Given the description of an element on the screen output the (x, y) to click on. 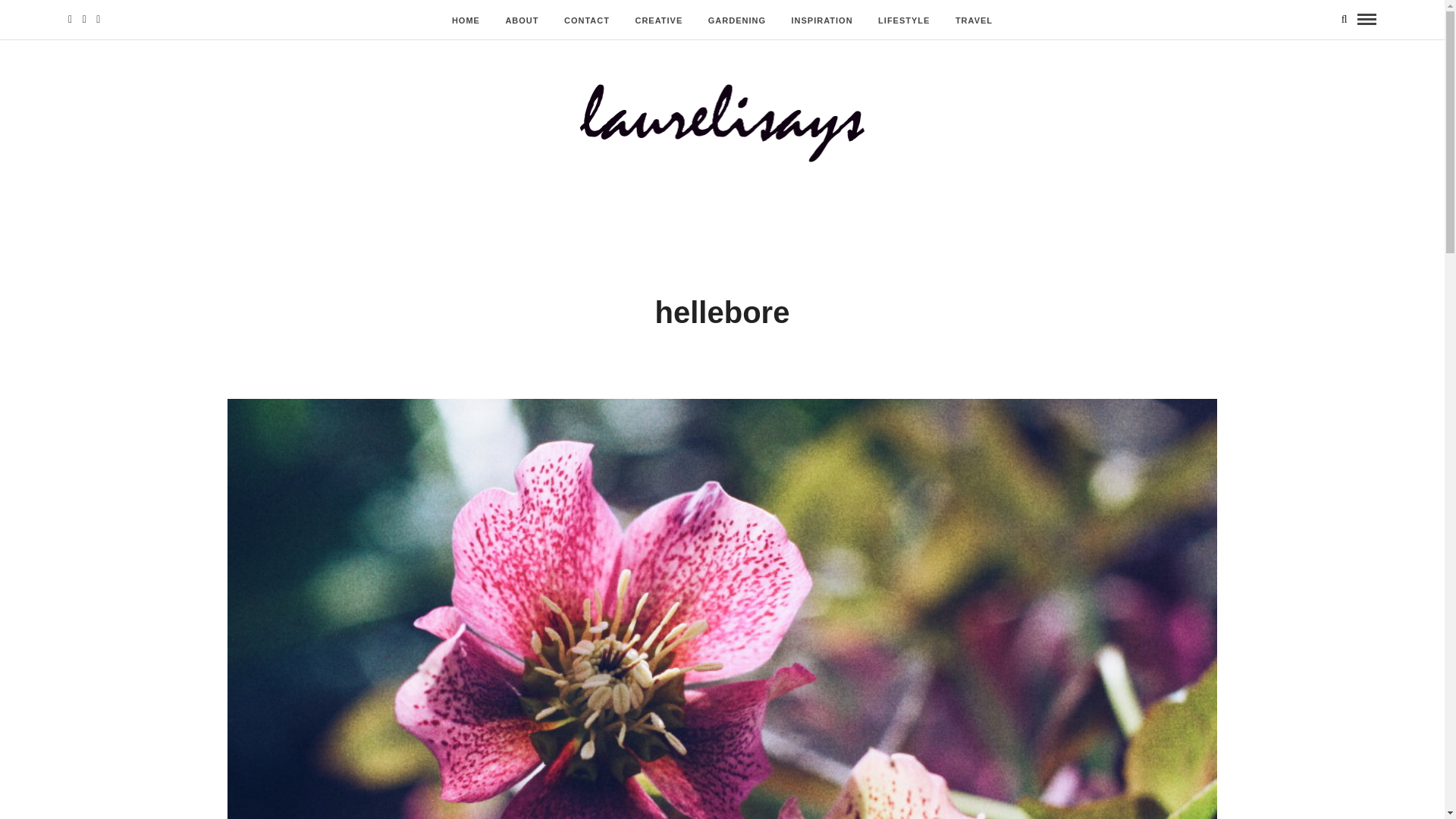
ABOUT (521, 19)
INSPIRATION (822, 19)
HOME (466, 19)
CONTACT (587, 19)
CREATIVE (658, 19)
TRAVEL (973, 19)
LIFESTYLE (903, 19)
GARDENING (737, 19)
